Given the description of an element on the screen output the (x, y) to click on. 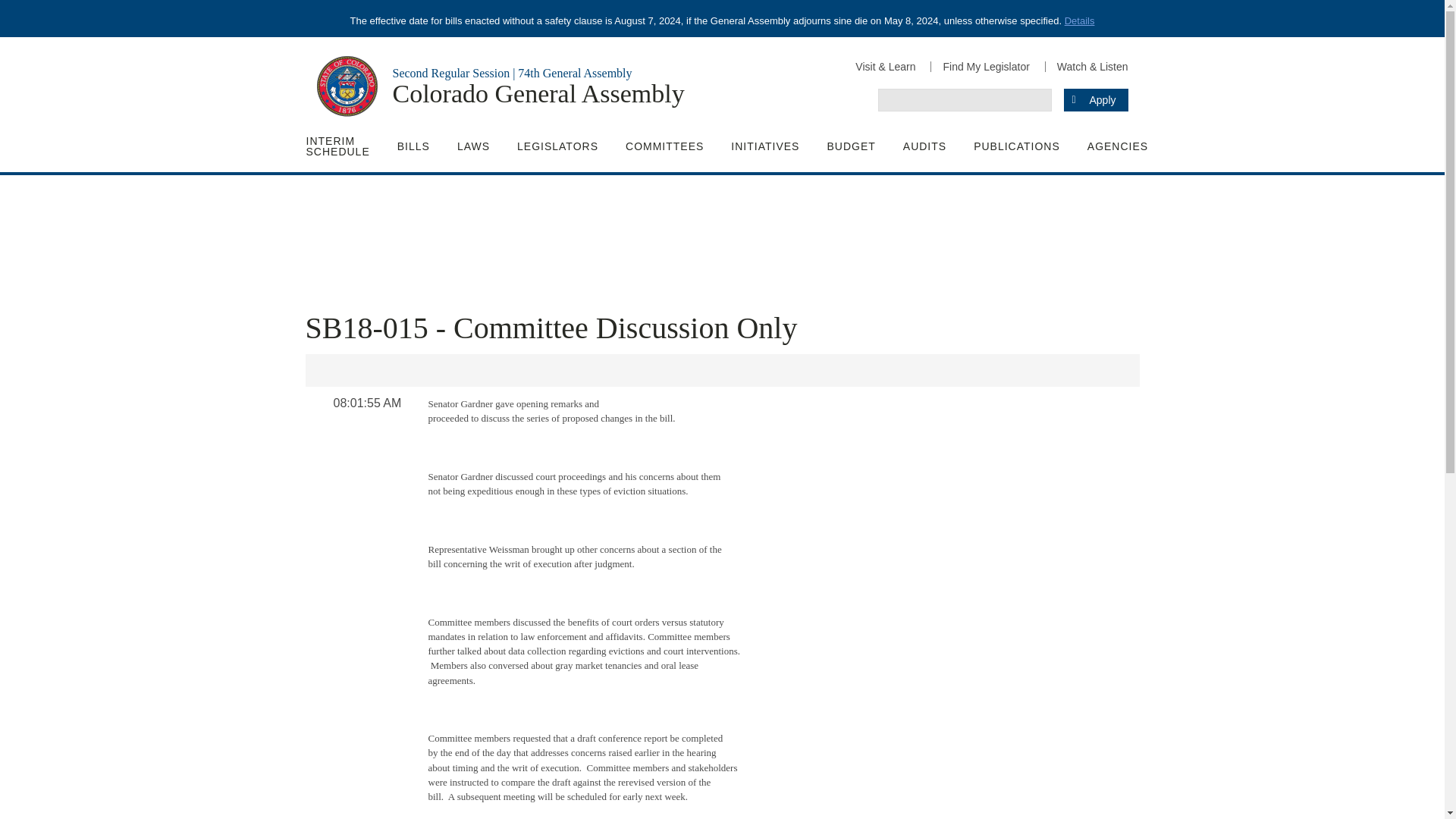
Details (1079, 20)
Apply (1094, 99)
